Given the description of an element on the screen output the (x, y) to click on. 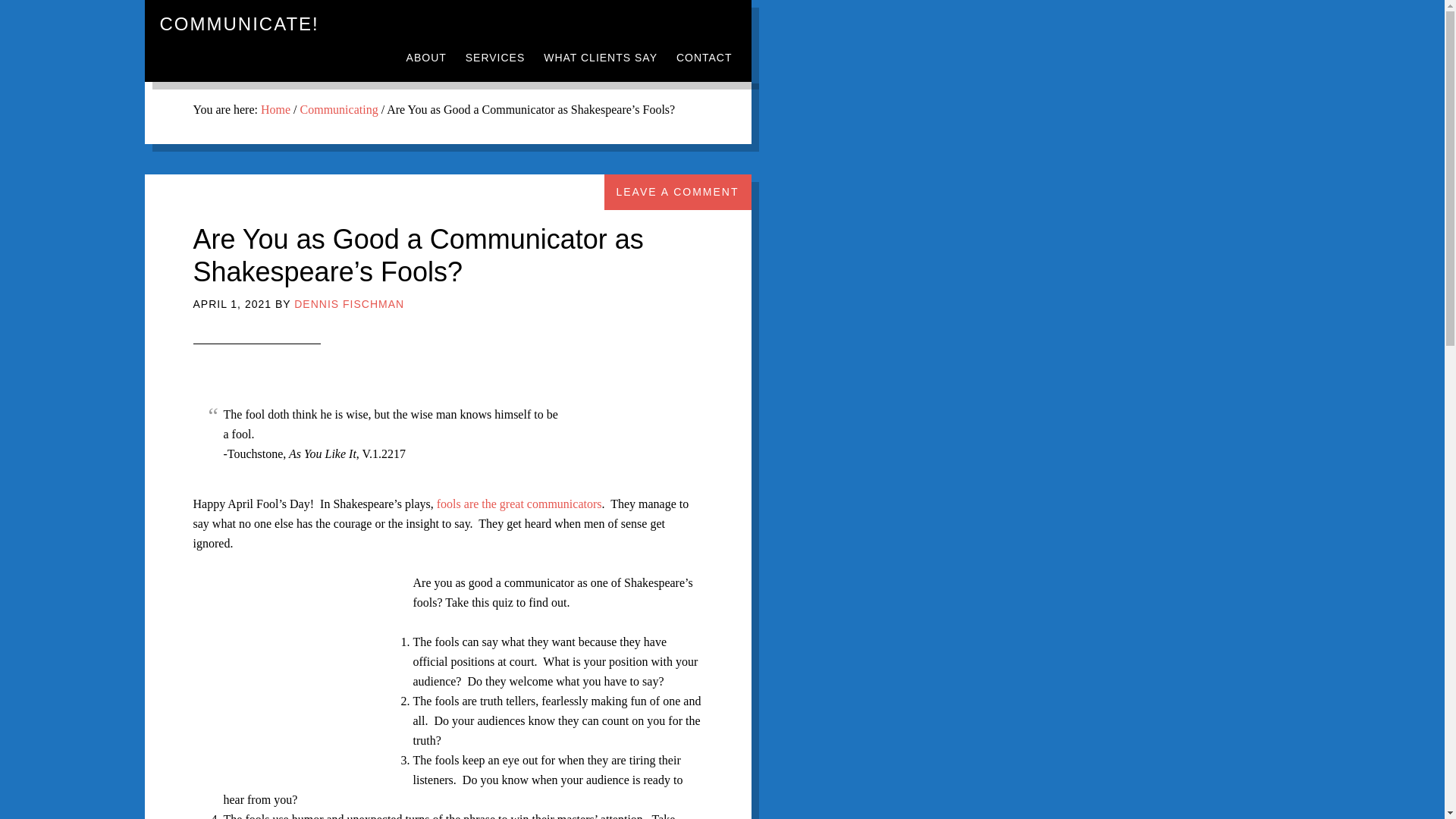
SERVICES (495, 57)
DENNIS FISCHMAN (349, 304)
COMMUNICATE! (238, 23)
CONTACT (703, 57)
WHAT CLIENTS SAY (600, 57)
LEAVE A COMMENT (677, 191)
Home (274, 109)
ABOUT (426, 57)
Communicating (338, 109)
fools are the great communicators (519, 503)
